Given the description of an element on the screen output the (x, y) to click on. 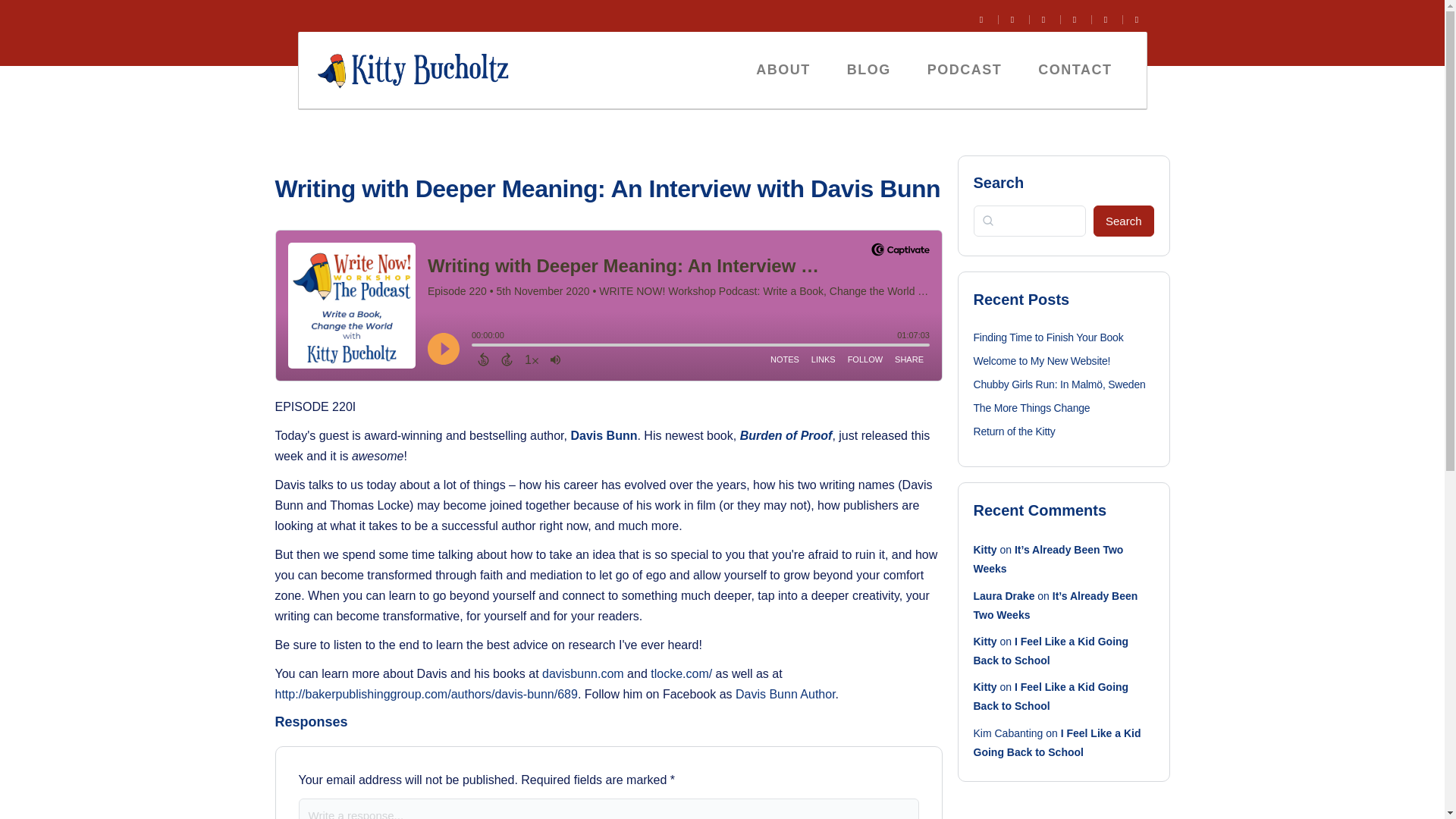
Welcome to My New Website! (1042, 360)
Davis Bunn Author (785, 694)
I Feel Like a Kid Going Back to School (1051, 650)
Kitty (985, 549)
Kitty (985, 641)
Kitty (985, 686)
Finding Time to Finish Your Book (1049, 337)
ABOUT (783, 69)
Laura Drake (1004, 595)
Burden of Proof (785, 435)
BLOG (868, 69)
I Feel Like a Kid Going Back to School (1051, 695)
CONTACT (1074, 69)
I Feel Like a Kid Going Back to School (1057, 742)
davisbunn.com (582, 673)
